Given the description of an element on the screen output the (x, y) to click on. 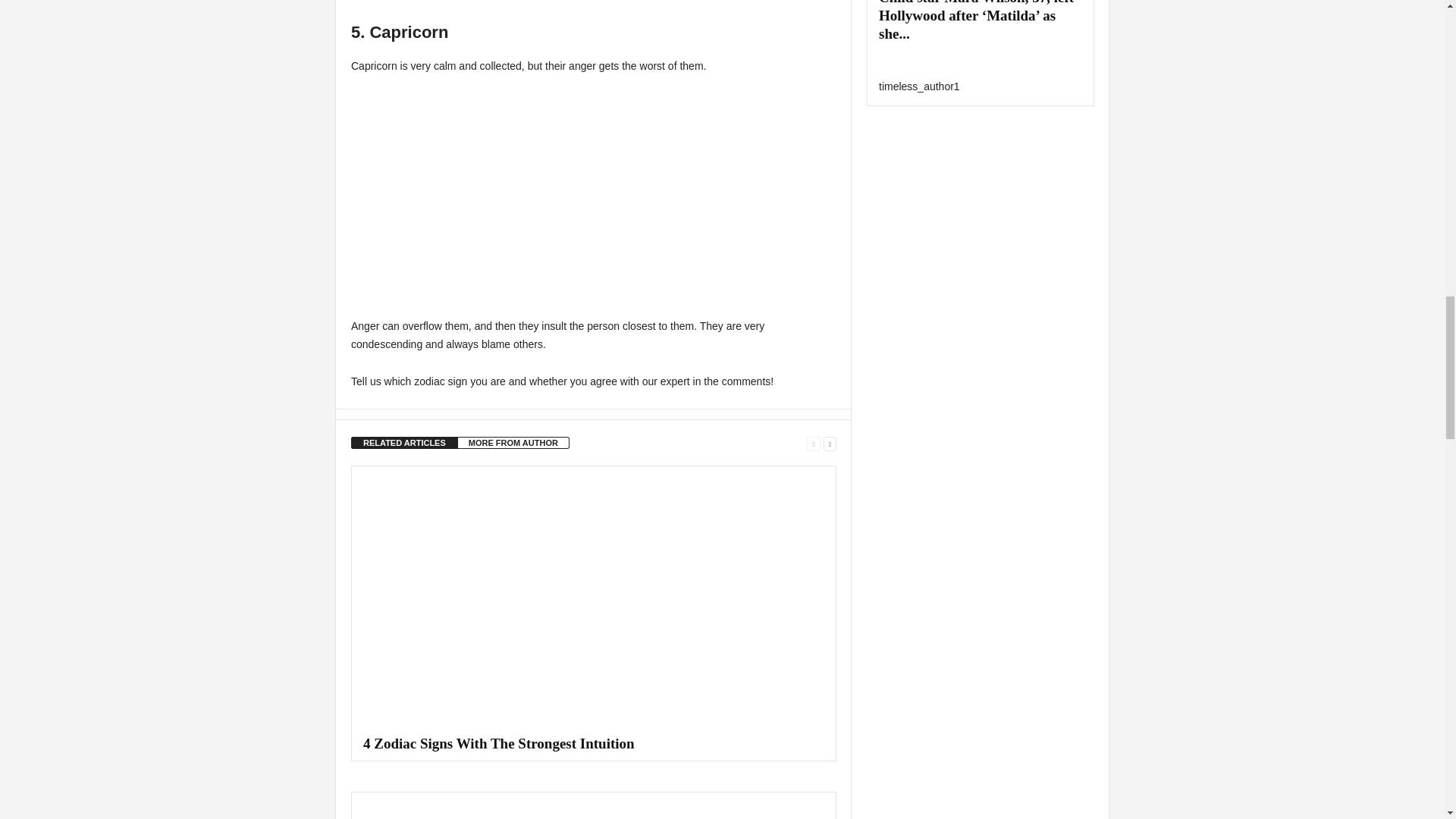
People Shared 10 Mysterious Events That Defy Any Explanation (593, 805)
4 Zodiac Signs With The Strongest Intuition (593, 598)
RELATED ARTICLES (404, 442)
4 Zodiac Signs With The Strongest Intuition (498, 743)
MORE FROM AUTHOR (513, 442)
4 Zodiac Signs With The Strongest Intuition (498, 743)
